Given the description of an element on the screen output the (x, y) to click on. 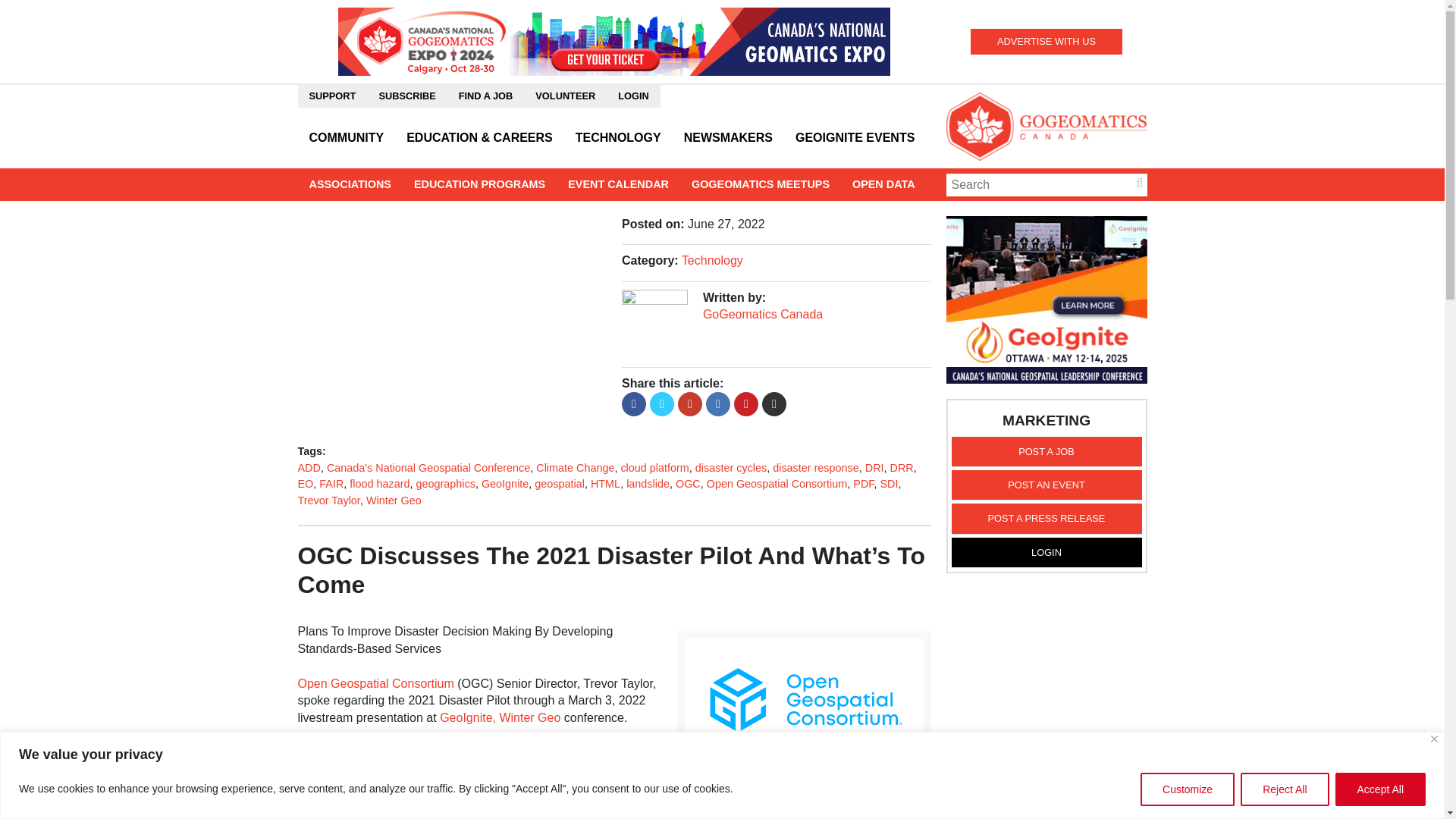
Customize (1187, 788)
TECHNOLOGY (618, 137)
ADVERTISE WITH US (1046, 41)
GEOIGNITE EVENTS (855, 137)
SUBSCRIBE (406, 96)
EVENT CALENDAR (617, 184)
COMMUNITY (345, 137)
LOGIN (634, 96)
Expo Registration Leaderboard (613, 40)
GoGeomatics (1046, 126)
